Given the description of an element on the screen output the (x, y) to click on. 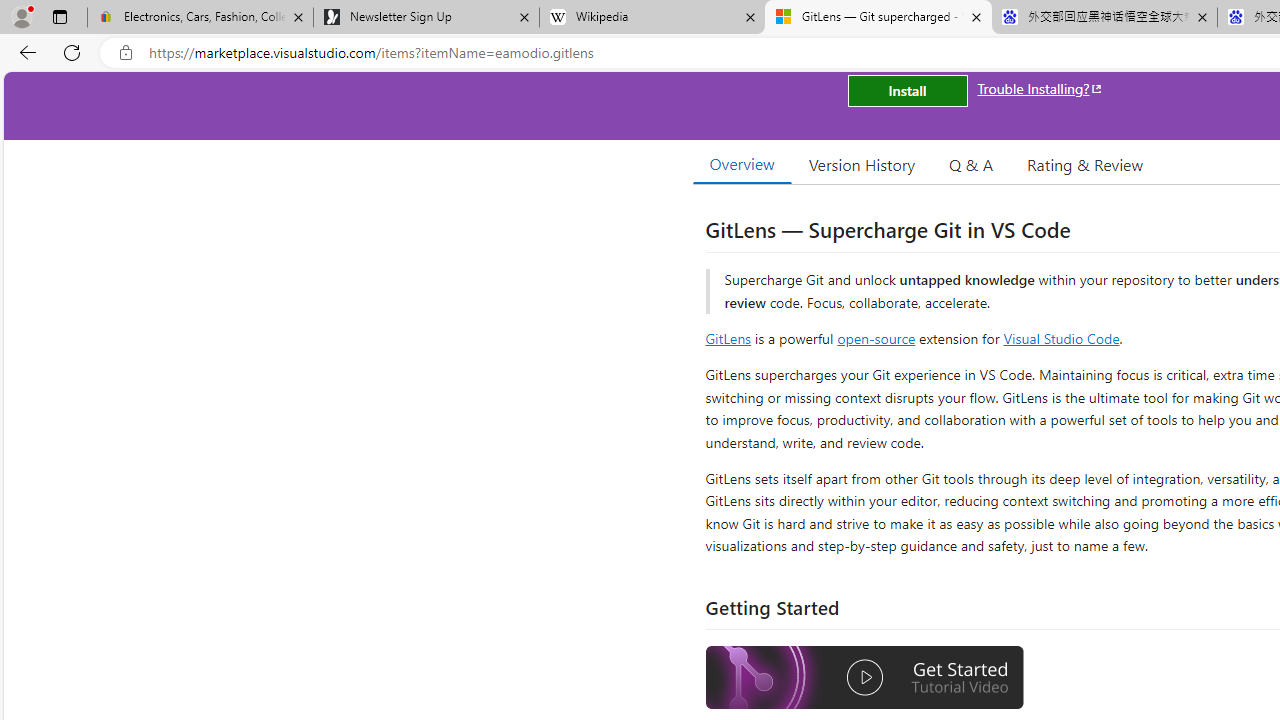
Rating & Review (1084, 164)
Newsletter Sign Up (425, 17)
Install (907, 90)
Watch the GitLens Getting Started video (865, 678)
